Given the description of an element on the screen output the (x, y) to click on. 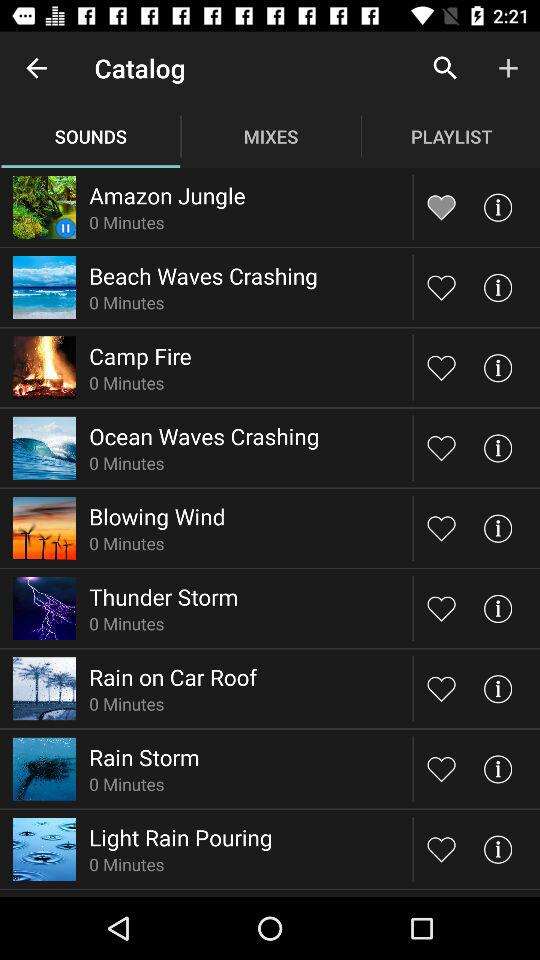
details (498, 688)
